Given the description of an element on the screen output the (x, y) to click on. 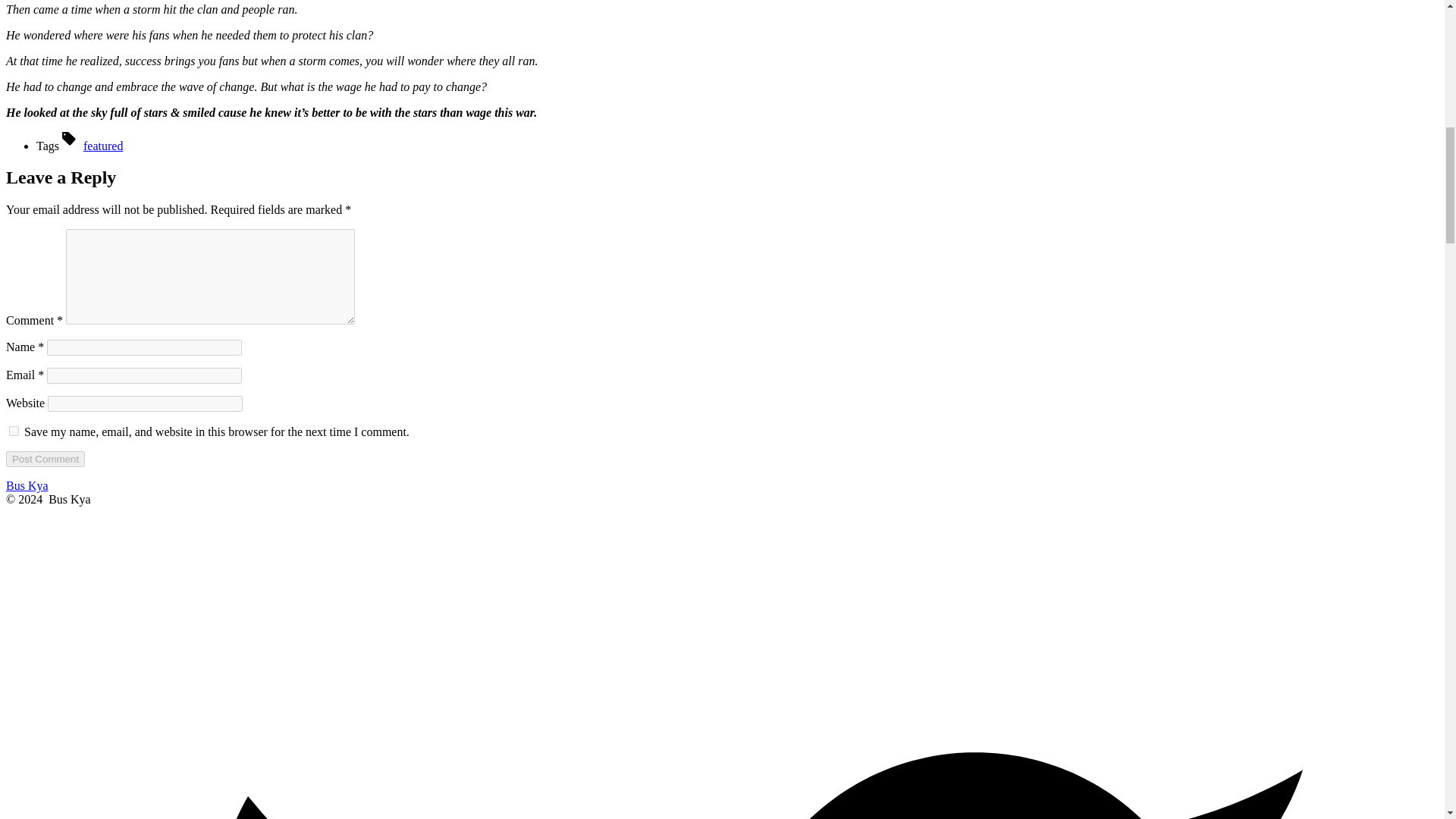
yes (13, 430)
Bus Kya (26, 485)
Post Comment (44, 458)
Post Comment (44, 458)
featured (102, 145)
